Given the description of an element on the screen output the (x, y) to click on. 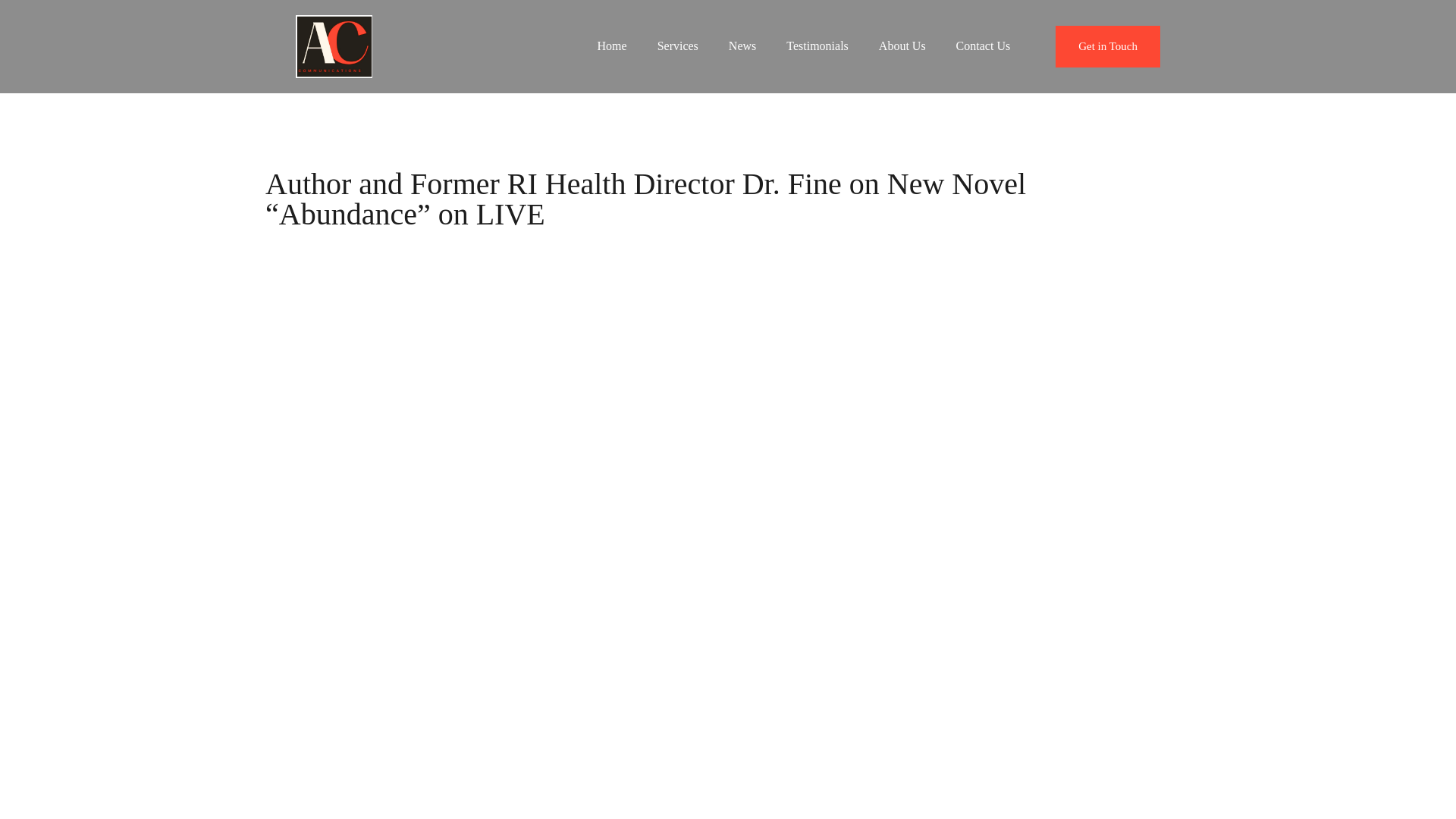
Testimonials (817, 46)
About Us (901, 46)
Contact Us (983, 46)
Home (612, 46)
News (742, 46)
Get in Touch (1107, 46)
Services (677, 46)
